Given the description of an element on the screen output the (x, y) to click on. 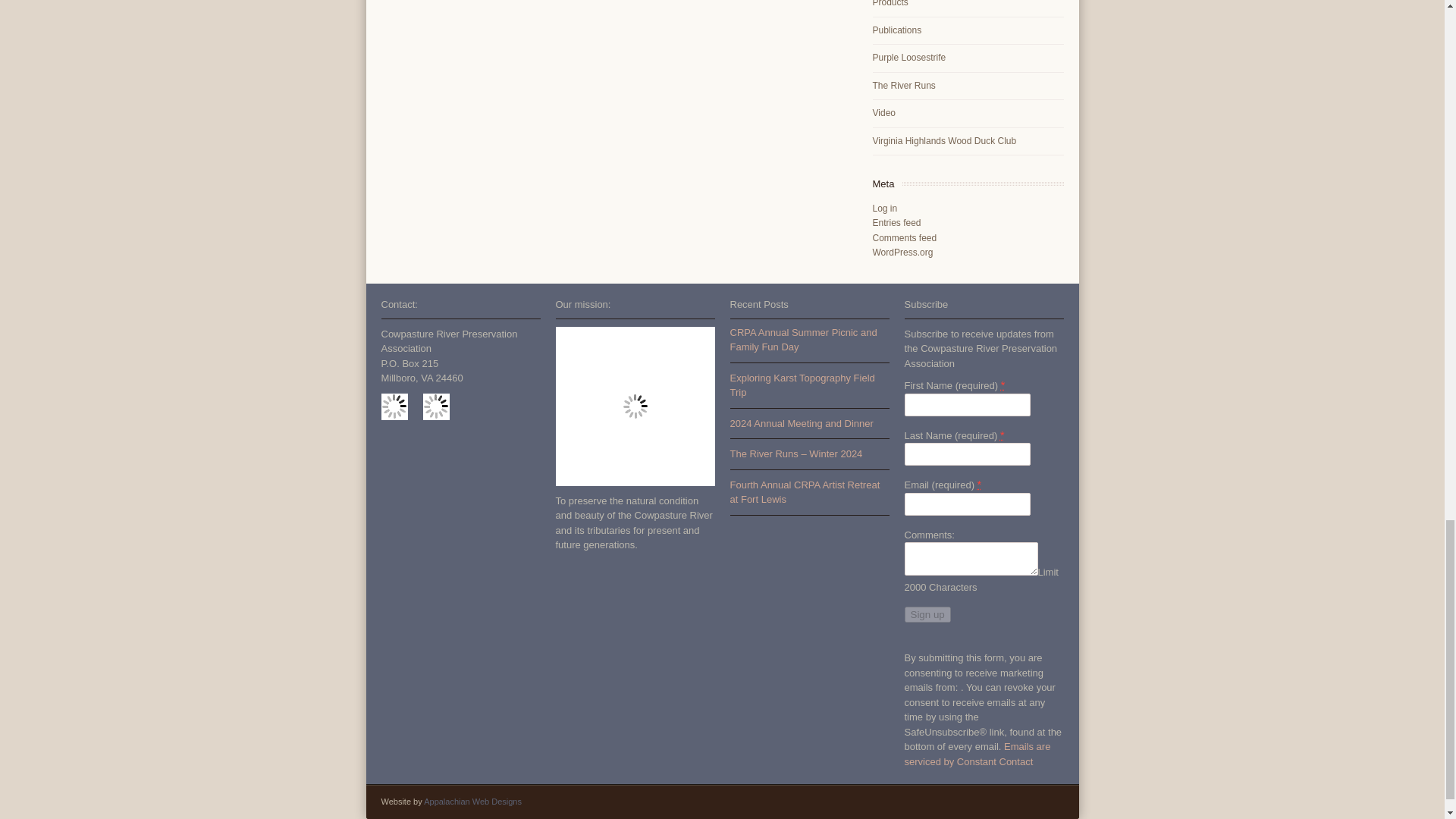
required (1002, 435)
required (978, 484)
required (1003, 385)
Sign up (927, 614)
